Given the description of an element on the screen output the (x, y) to click on. 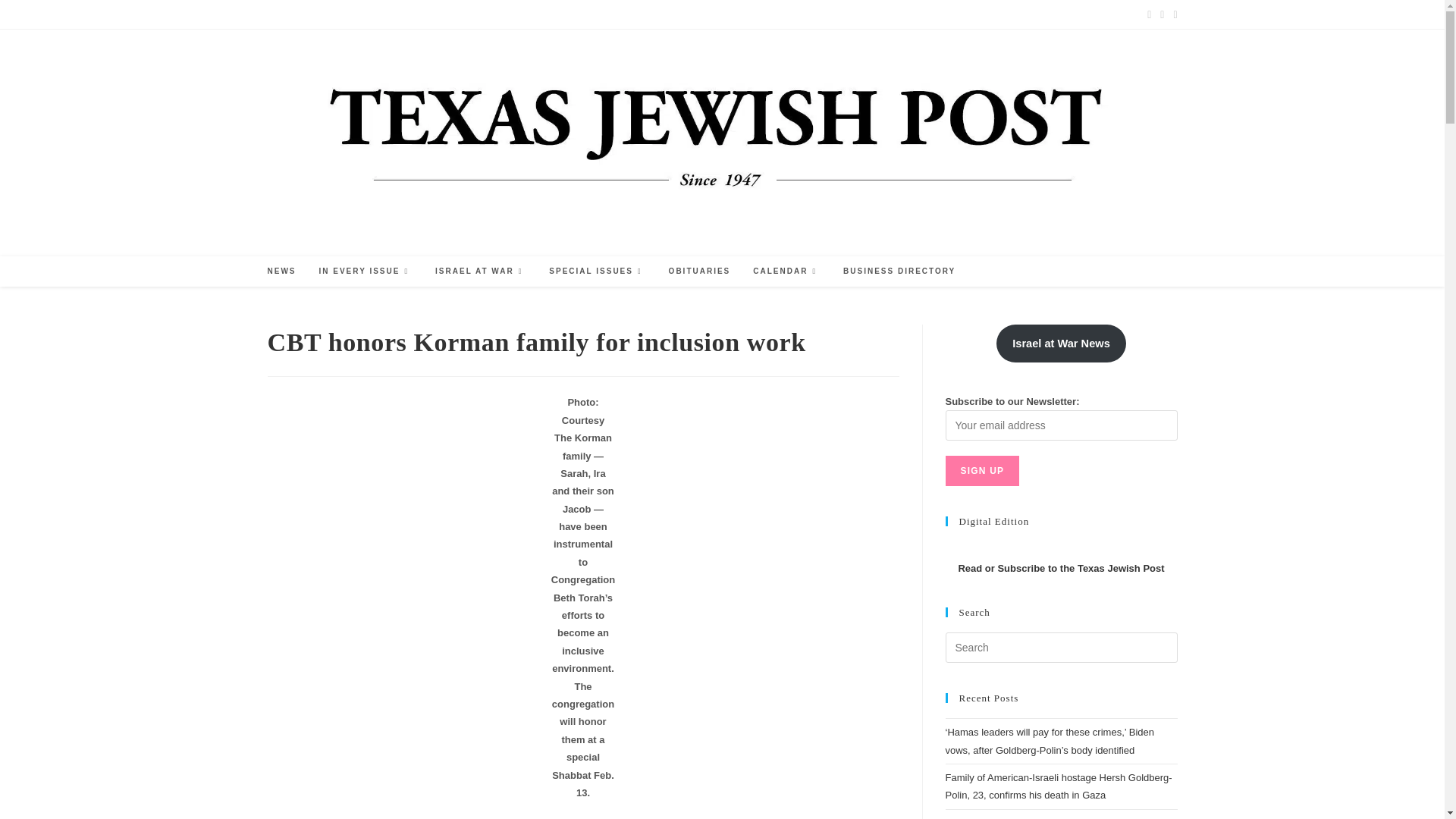
OBITUARIES (700, 271)
SPECIAL ISSUES (596, 271)
Submit Your News (405, 13)
Synagogues (527, 13)
NEWS (281, 271)
Subscribe (336, 13)
Read or Subscribe to the Texas Jewish Post e-Edition (1060, 568)
Advertise (285, 13)
IN EVERY ISSUE (366, 271)
ISRAEL AT WAR (480, 271)
